Given the description of an element on the screen output the (x, y) to click on. 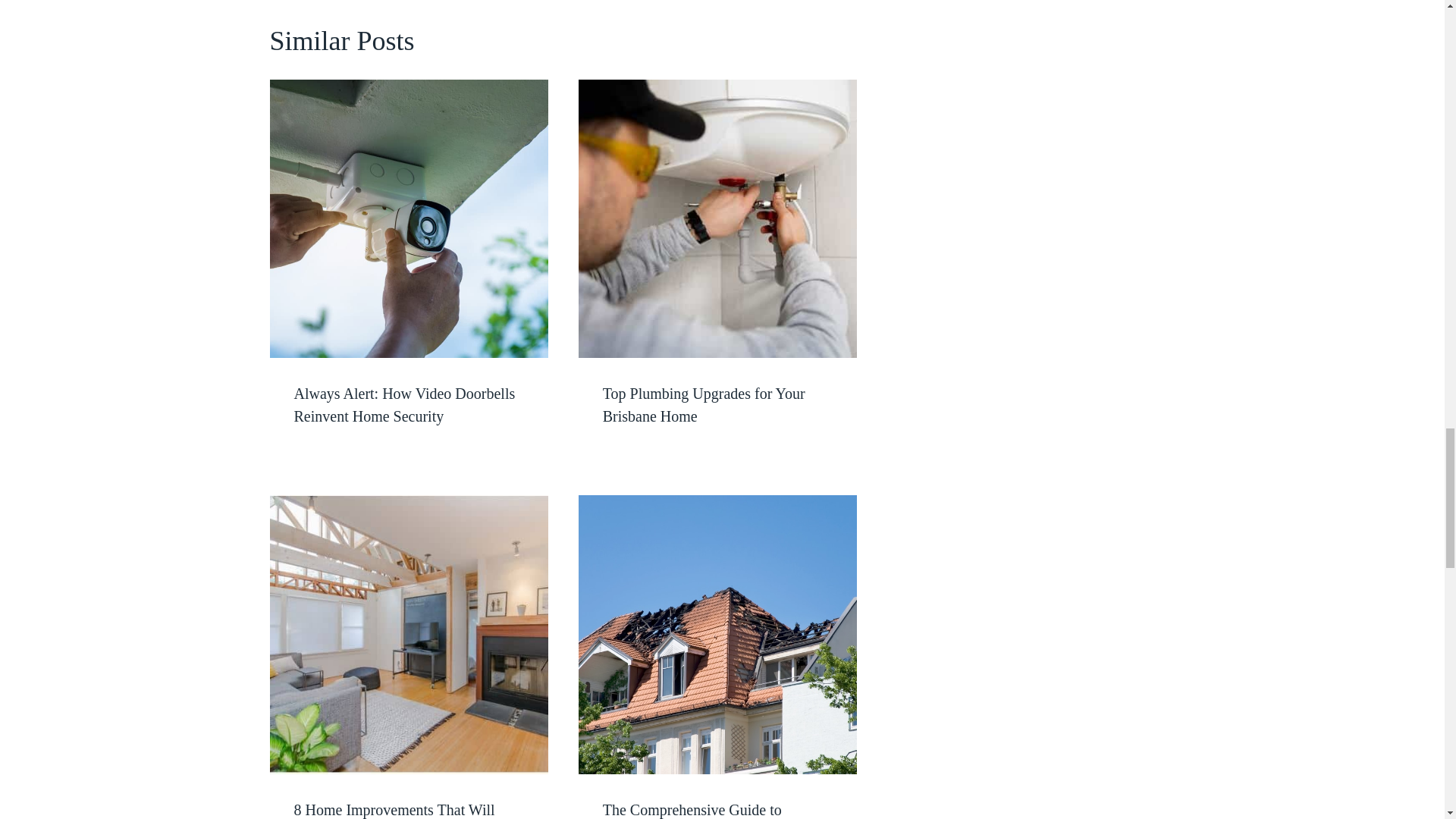
Always Alert: How Video Doorbells Reinvent Home Security (404, 404)
8 Home Improvements That Will Improve Your Health (394, 810)
Top Plumbing Upgrades for Your Brisbane Home (703, 404)
